Given the description of an element on the screen output the (x, y) to click on. 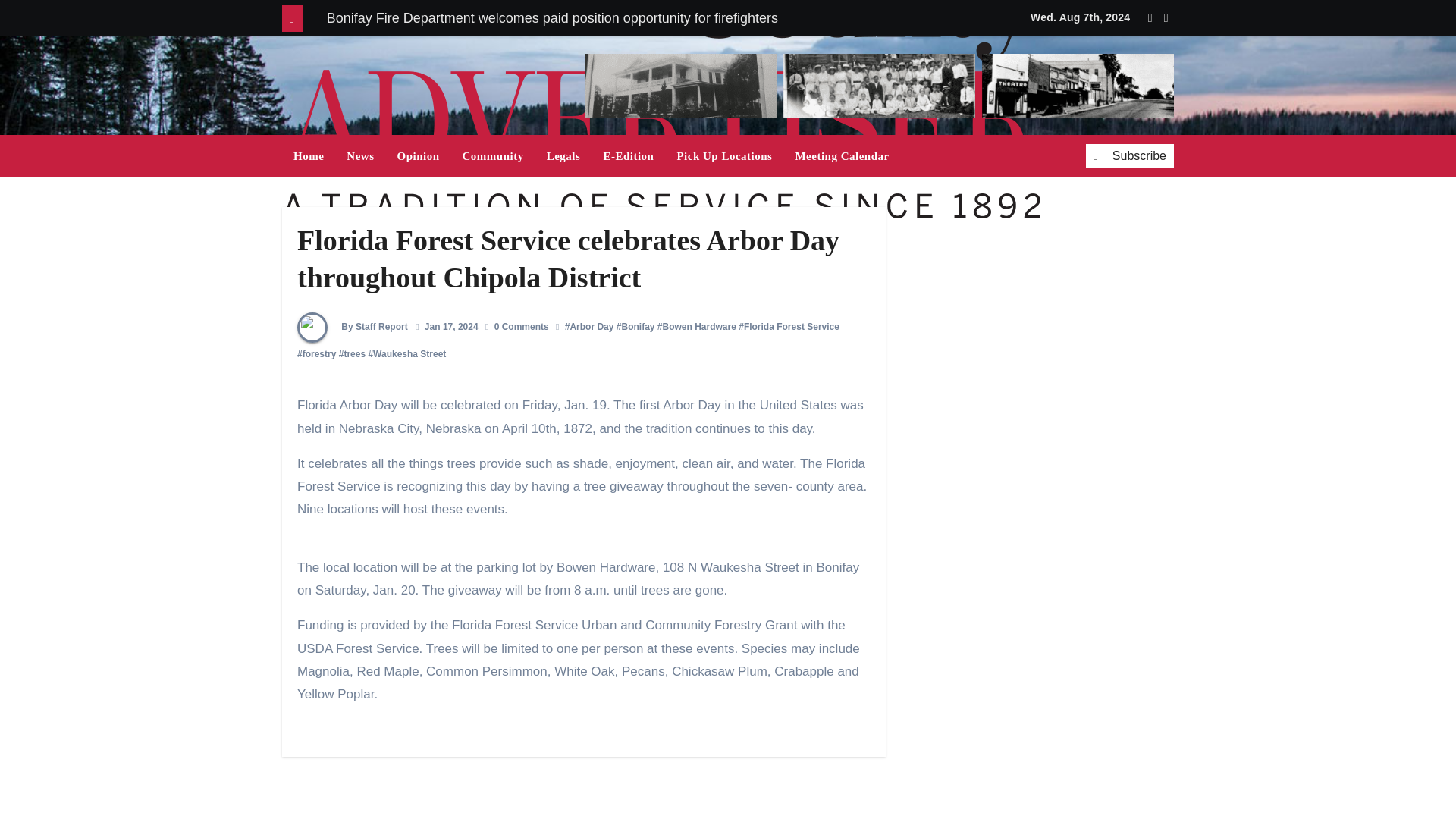
Subscribe (1129, 156)
News (359, 155)
E-Edition (628, 155)
Legals (563, 155)
Community (493, 155)
Meeting Calendar (841, 155)
Community (493, 155)
Legals (563, 155)
Home (308, 155)
